Given the description of an element on the screen output the (x, y) to click on. 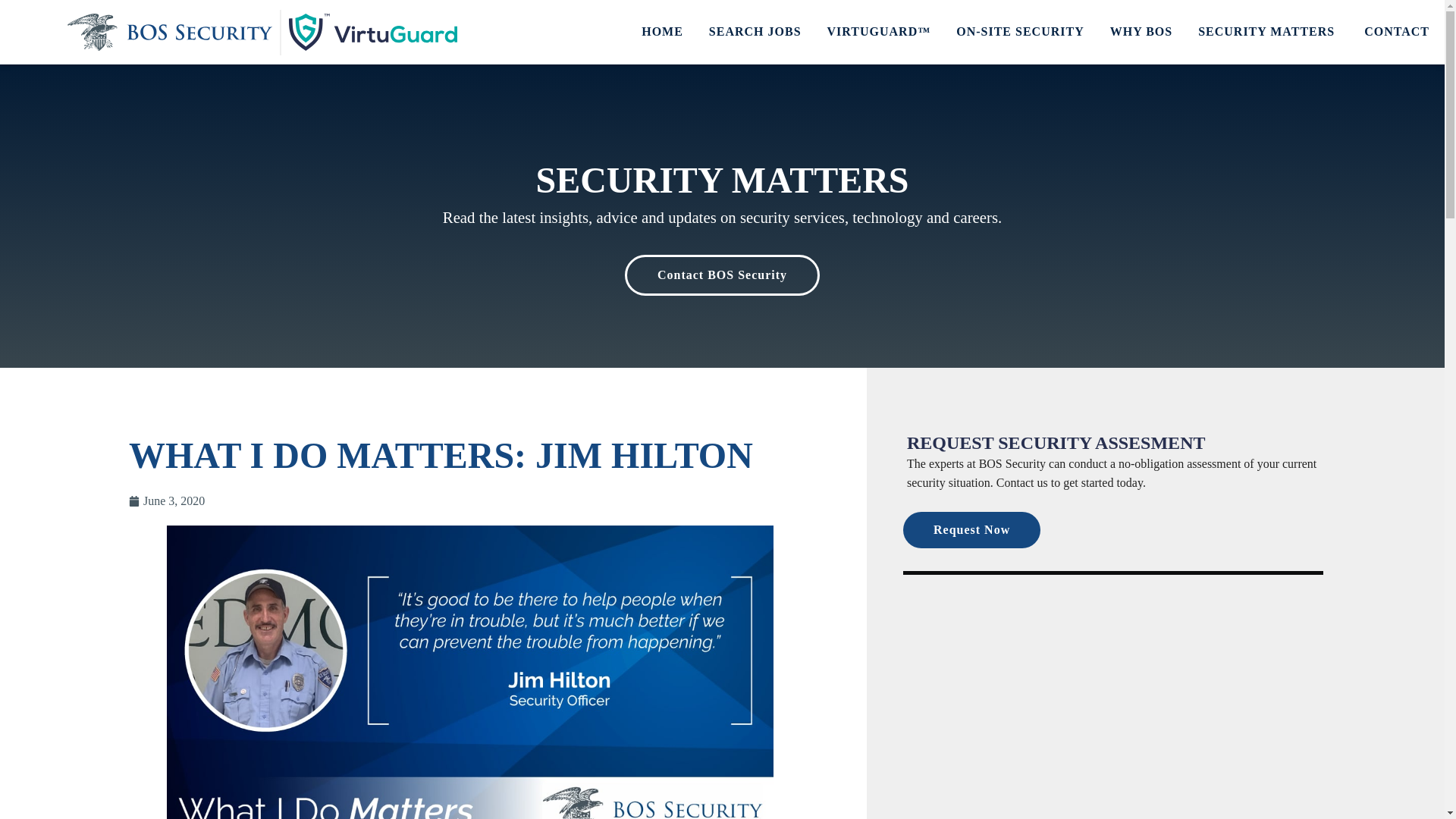
SECURITY MATTERS  (1268, 31)
ON-SITE SECURITY (1019, 31)
WHY BOS (1140, 31)
CONTACT (1396, 31)
SEARCH JOBS (755, 31)
